Given the description of an element on the screen output the (x, y) to click on. 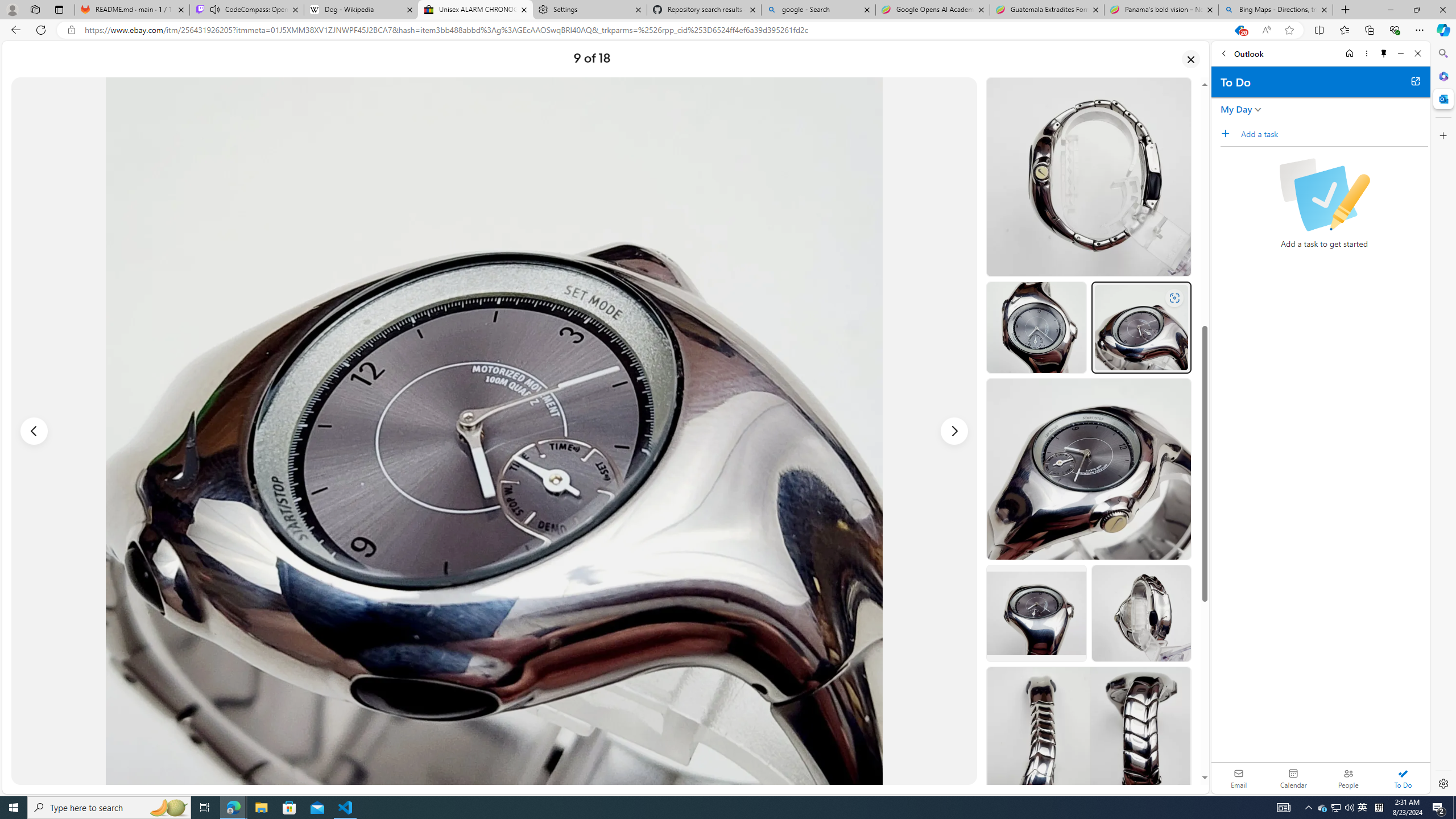
Picture 9 of 18 (493, 430)
To Do (1402, 777)
Next image - Item images thumbnails (954, 430)
My Day (1236, 109)
